Given the description of an element on the screen output the (x, y) to click on. 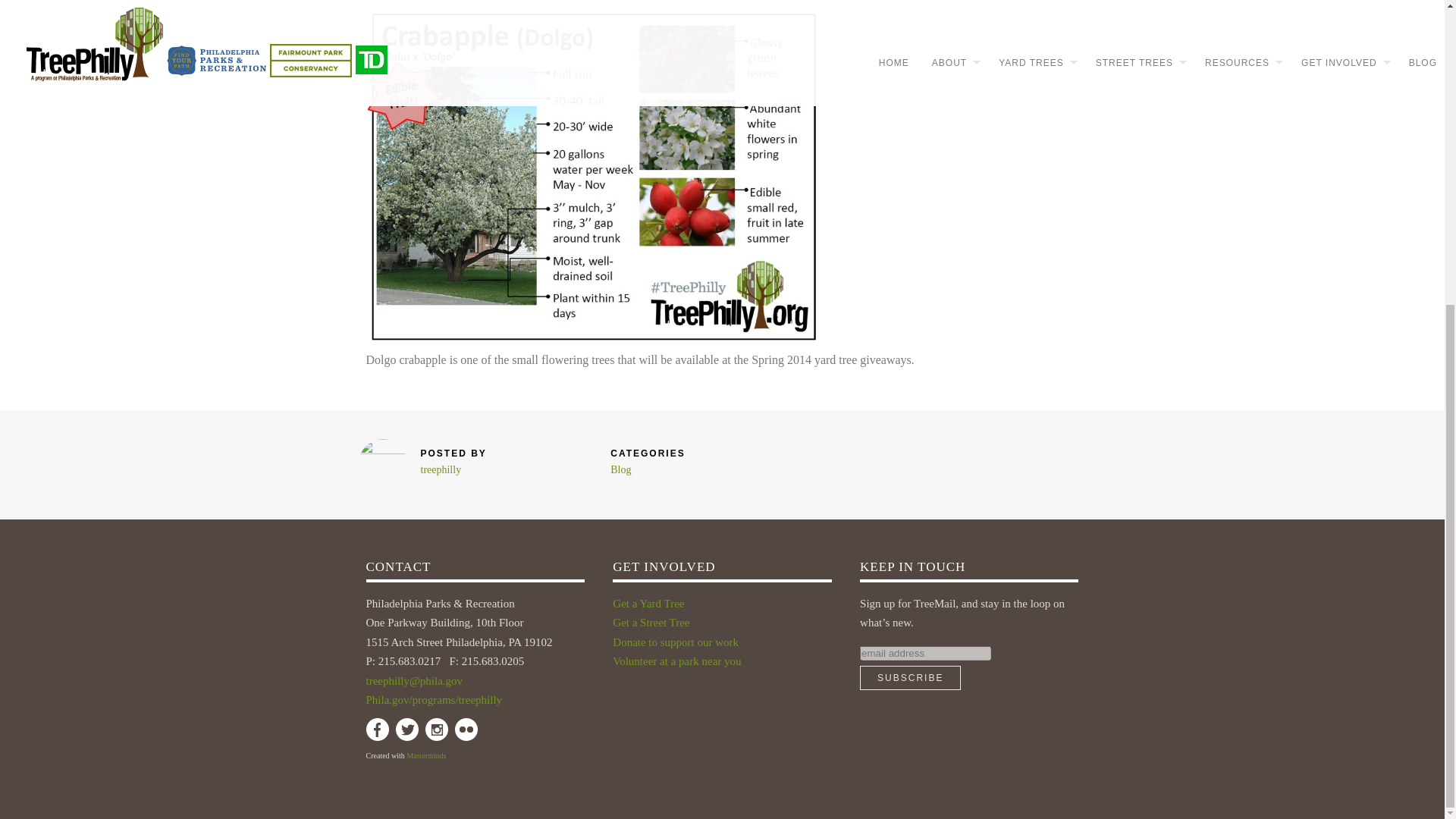
Posts by treephilly (440, 469)
Subscribe (910, 677)
